Given the description of an element on the screen output the (x, y) to click on. 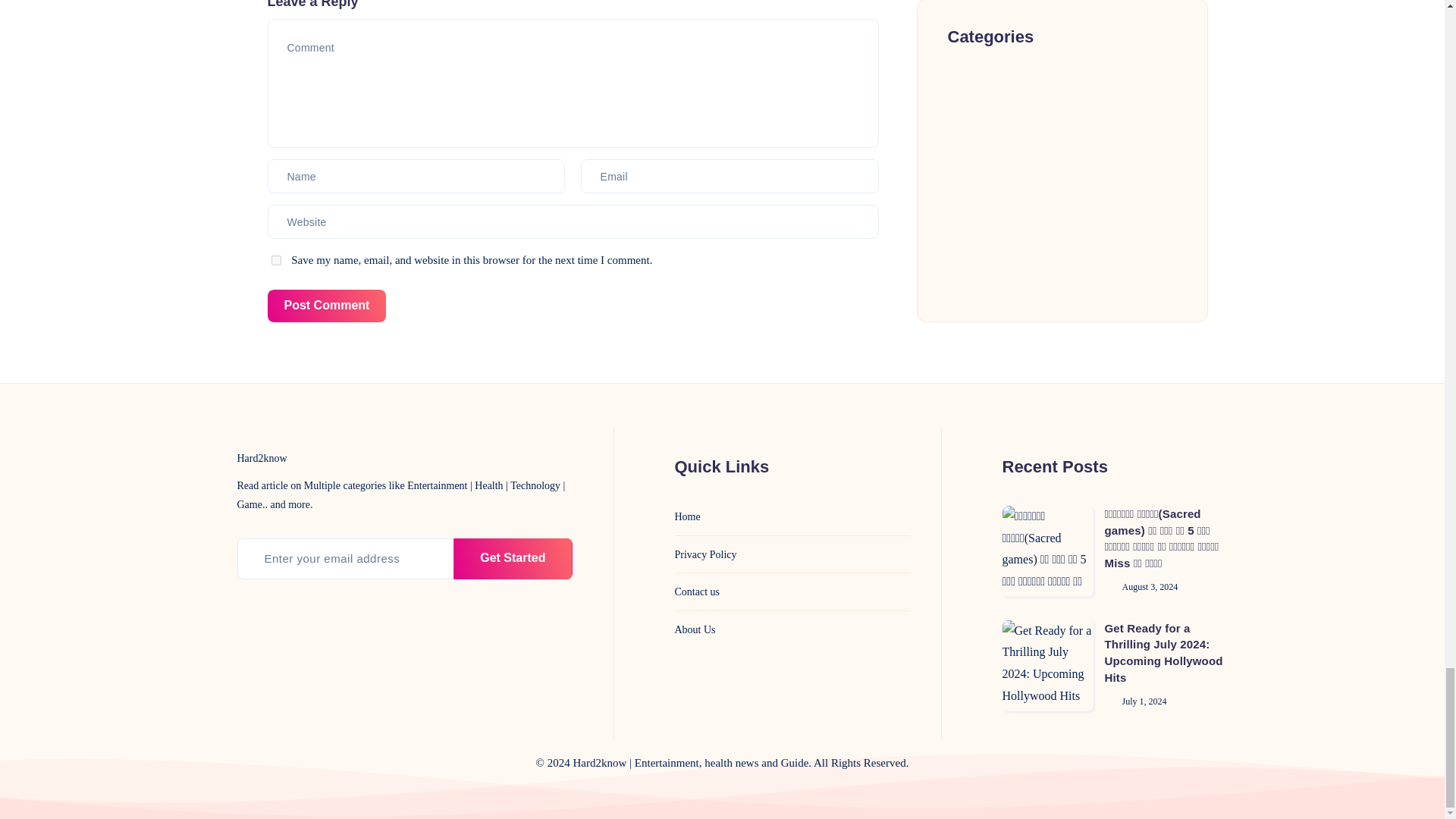
yes (275, 260)
